Given the description of an element on the screen output the (x, y) to click on. 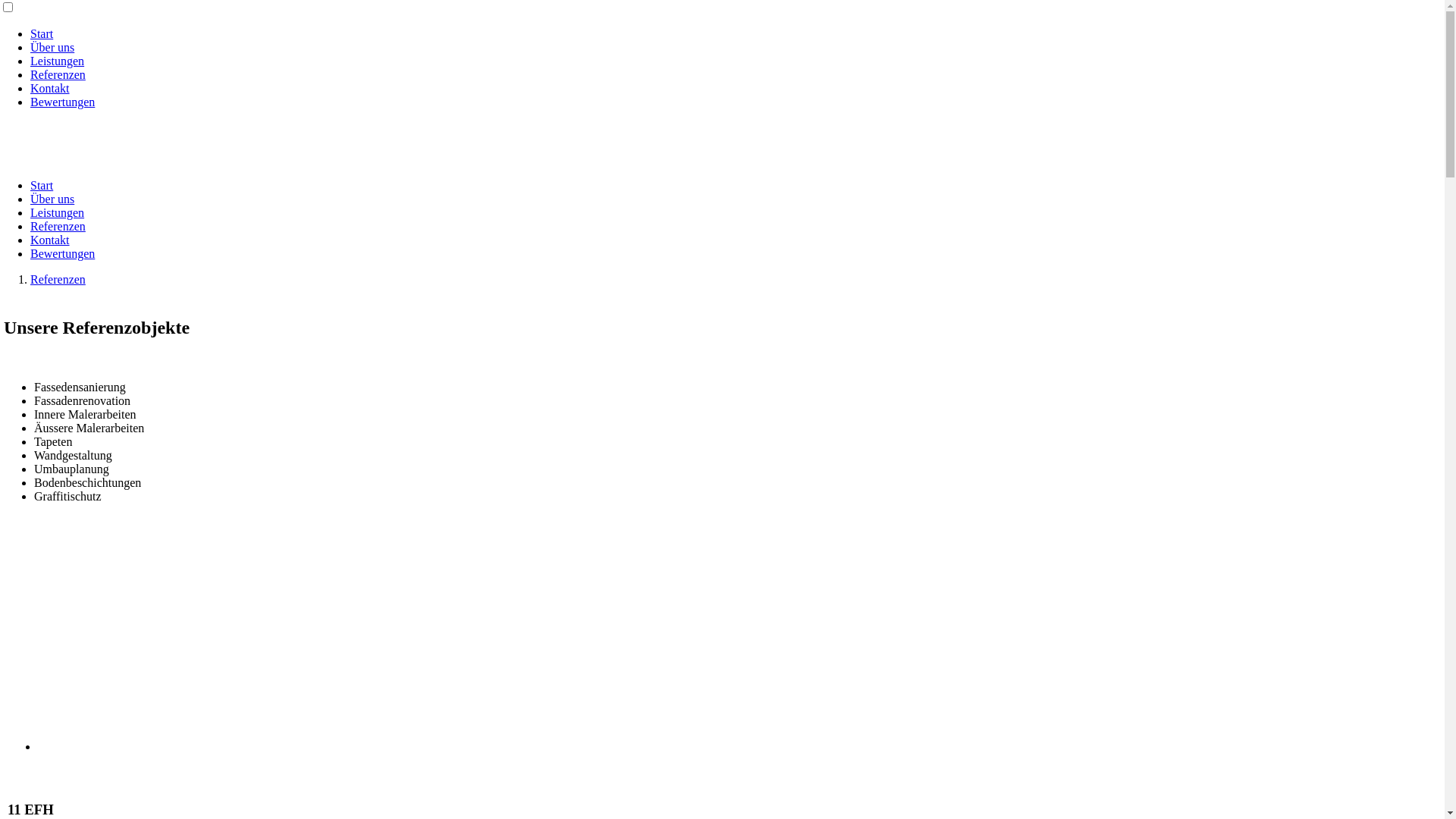
Referenzen Element type: text (57, 225)
Leistungen Element type: text (57, 60)
Referenzen Element type: text (57, 74)
Bewertungen Element type: text (62, 253)
Leistungen Element type: text (57, 212)
Referenzen Element type: text (57, 279)
Start Element type: text (41, 33)
Kontakt Element type: text (49, 87)
Bewertungen Element type: text (62, 101)
Kontakt Element type: text (49, 239)
Start Element type: text (41, 184)
